Given the description of an element on the screen output the (x, y) to click on. 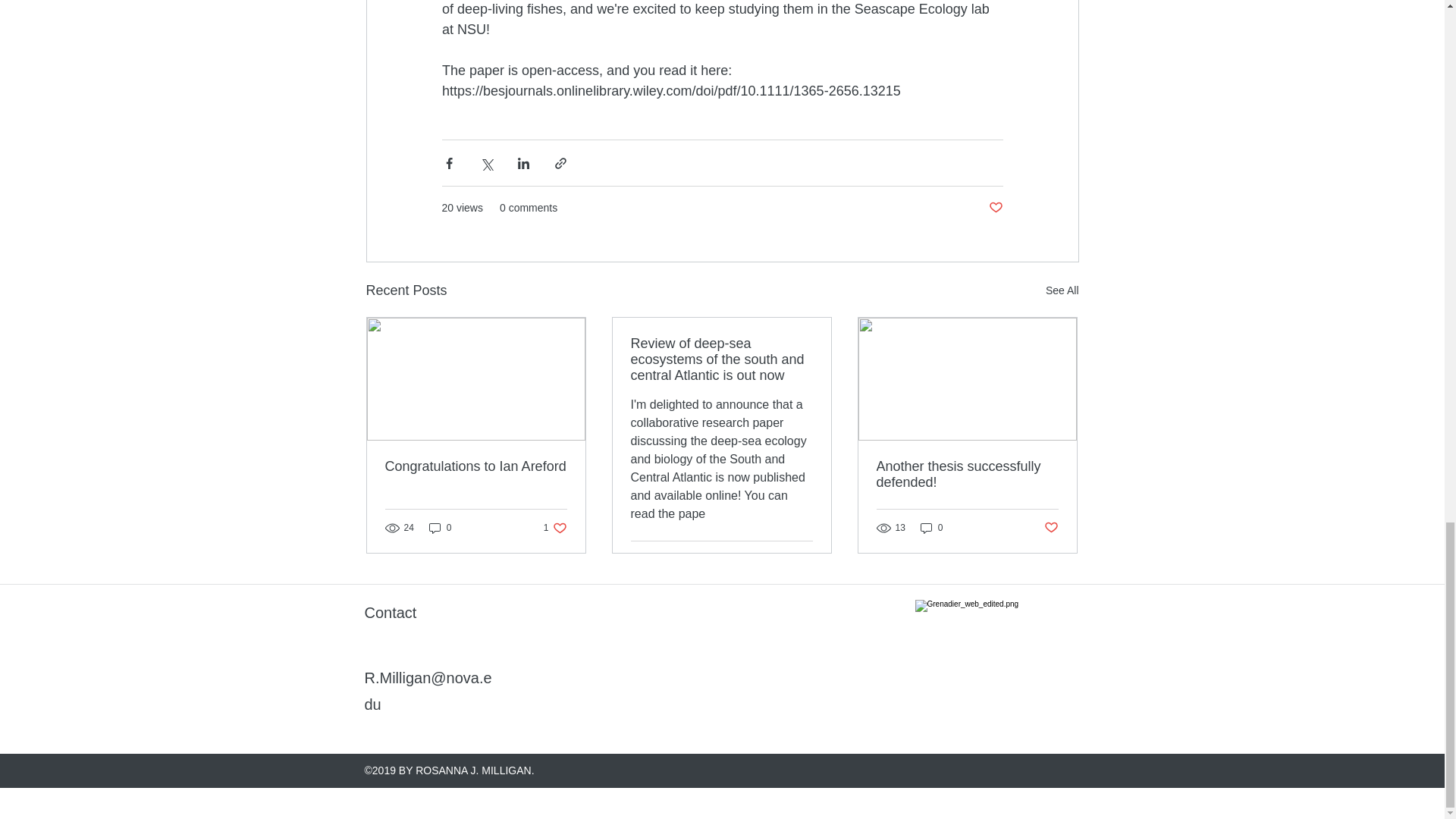
See All (1061, 291)
0 (440, 527)
Post not marked as liked (995, 207)
Congratulations to Ian Areford (476, 466)
